Given the description of an element on the screen output the (x, y) to click on. 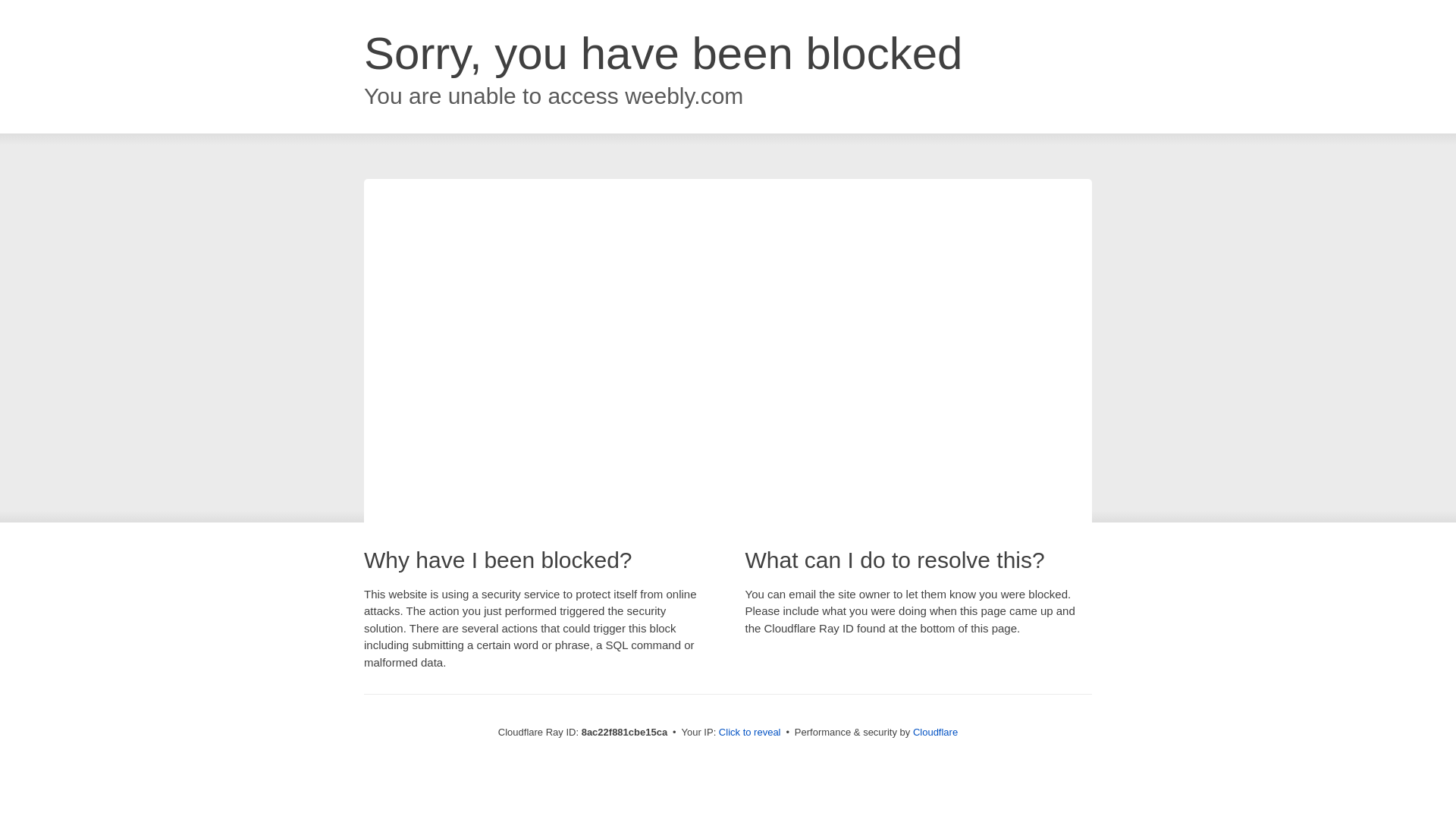
Click to reveal (749, 732)
Cloudflare (935, 731)
